Given the description of an element on the screen output the (x, y) to click on. 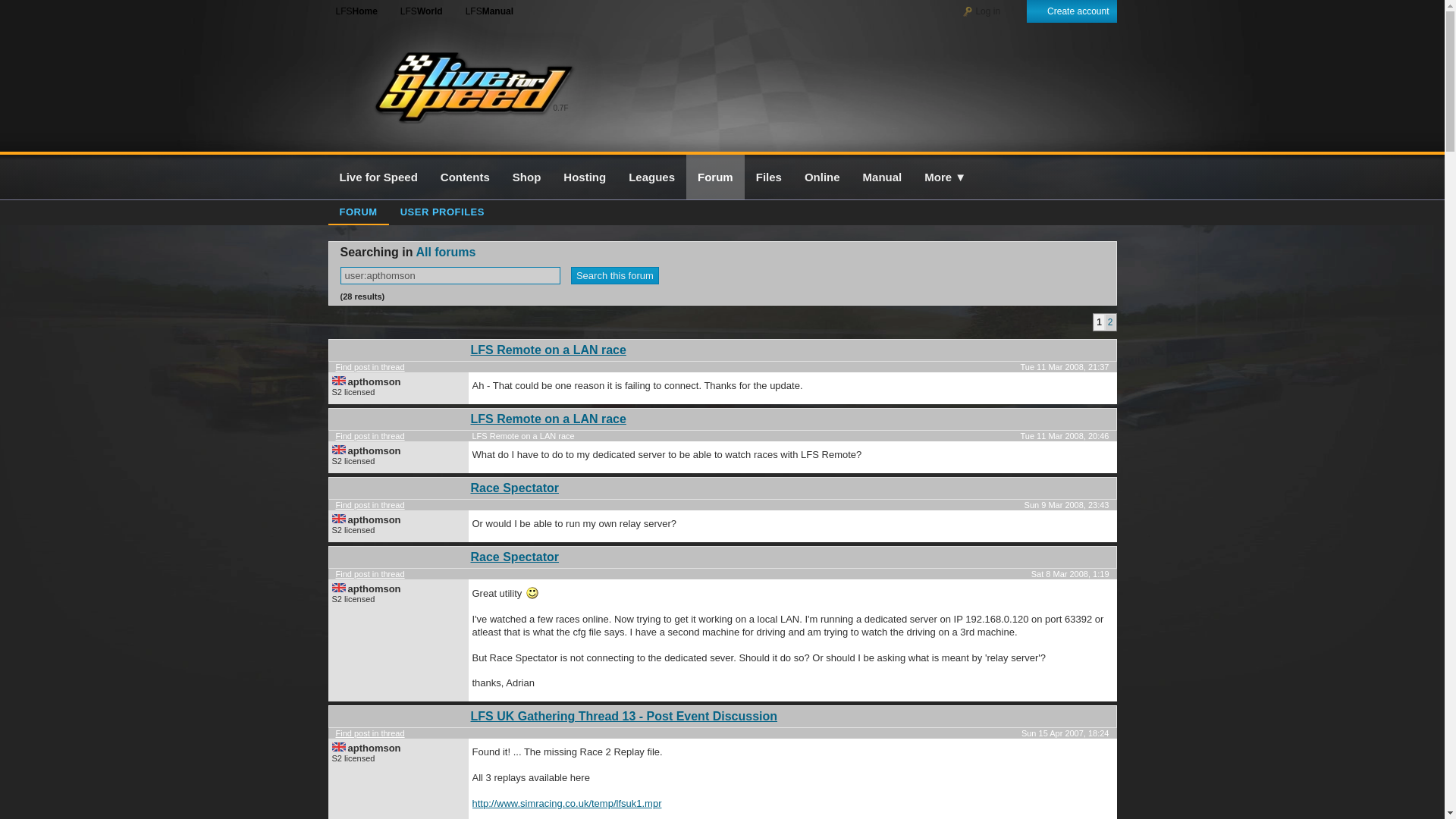
United Kingdom (338, 746)
LFS Statistics website (417, 10)
Shop (526, 176)
apthomson (373, 450)
Find post in thread (369, 732)
LFS Remote on a LAN race (548, 349)
apthomson (373, 588)
Sun, 15 Apr 2007 10:24 UTC (1065, 732)
Files (768, 176)
Create account (1071, 11)
